Given the description of an element on the screen output the (x, y) to click on. 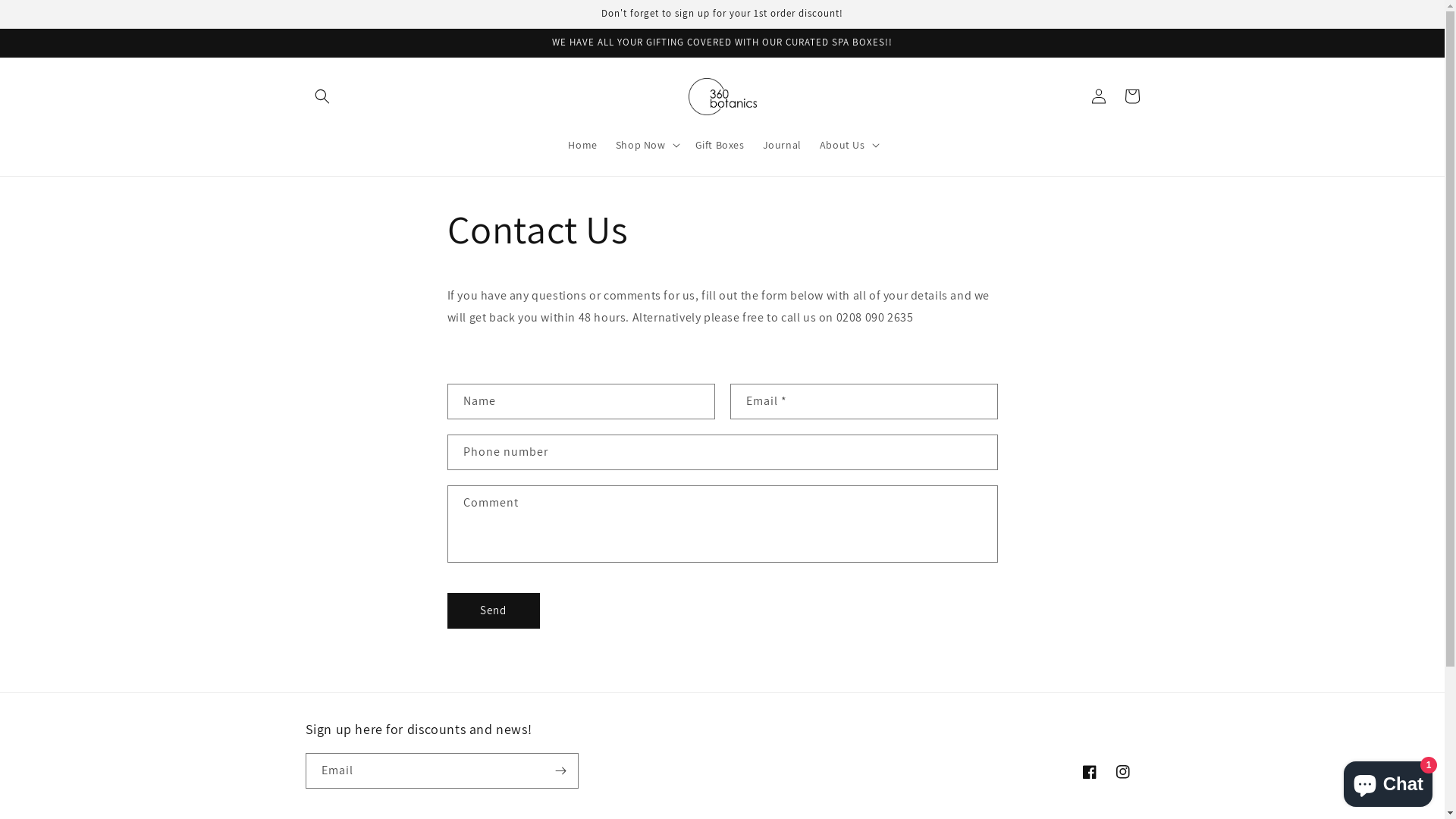
Shopify online store chat Element type: hover (1388, 780)
Instagram Element type: text (1122, 771)
Gift Boxes Element type: text (719, 144)
Home Element type: text (581, 144)
Send Element type: text (493, 610)
Cart Element type: text (1131, 95)
Journal Element type: text (781, 144)
Log in Element type: text (1097, 95)
Facebook Element type: text (1088, 771)
